Given the description of an element on the screen output the (x, y) to click on. 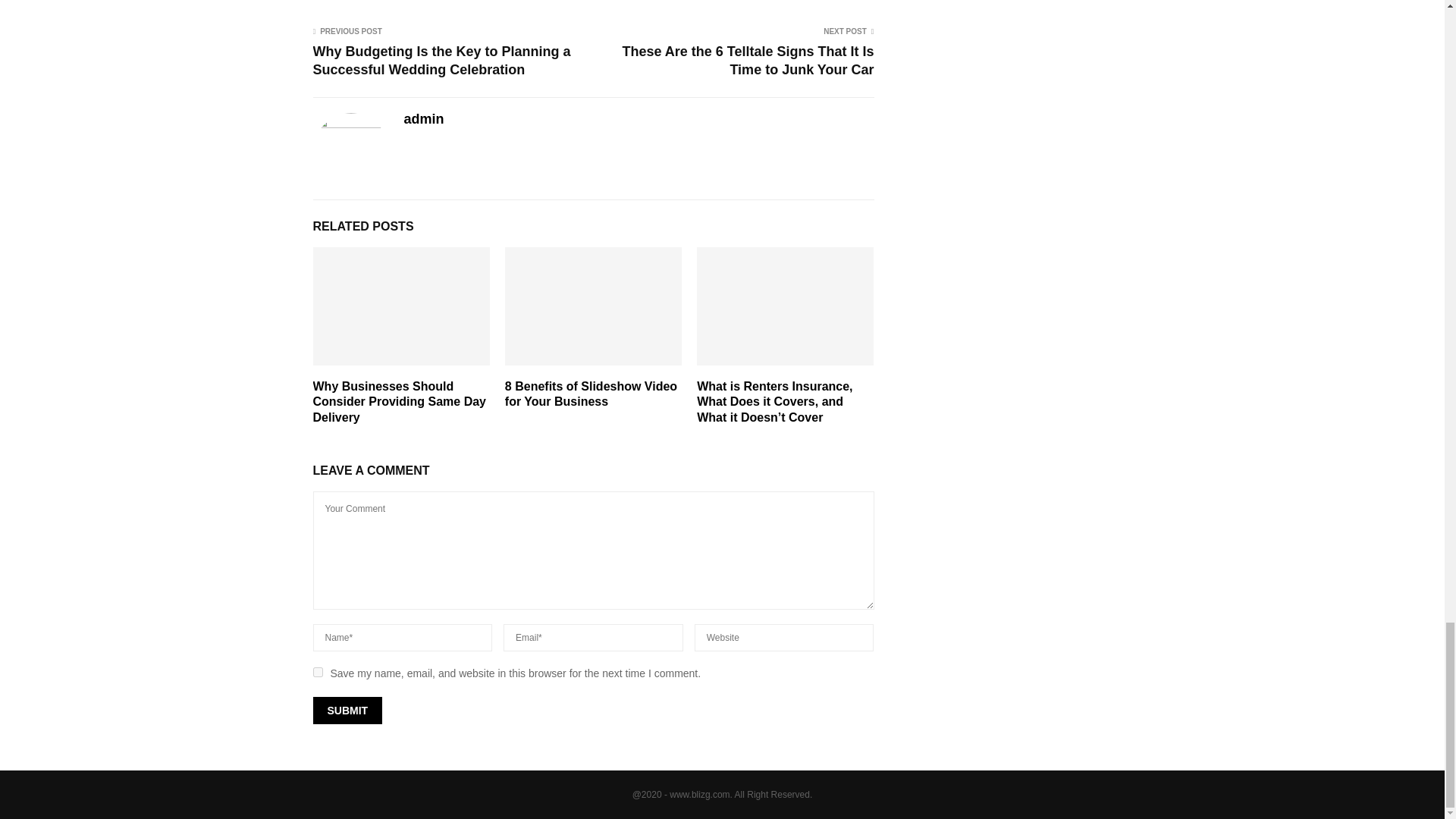
Submit (347, 709)
yes (317, 672)
